Given the description of an element on the screen output the (x, y) to click on. 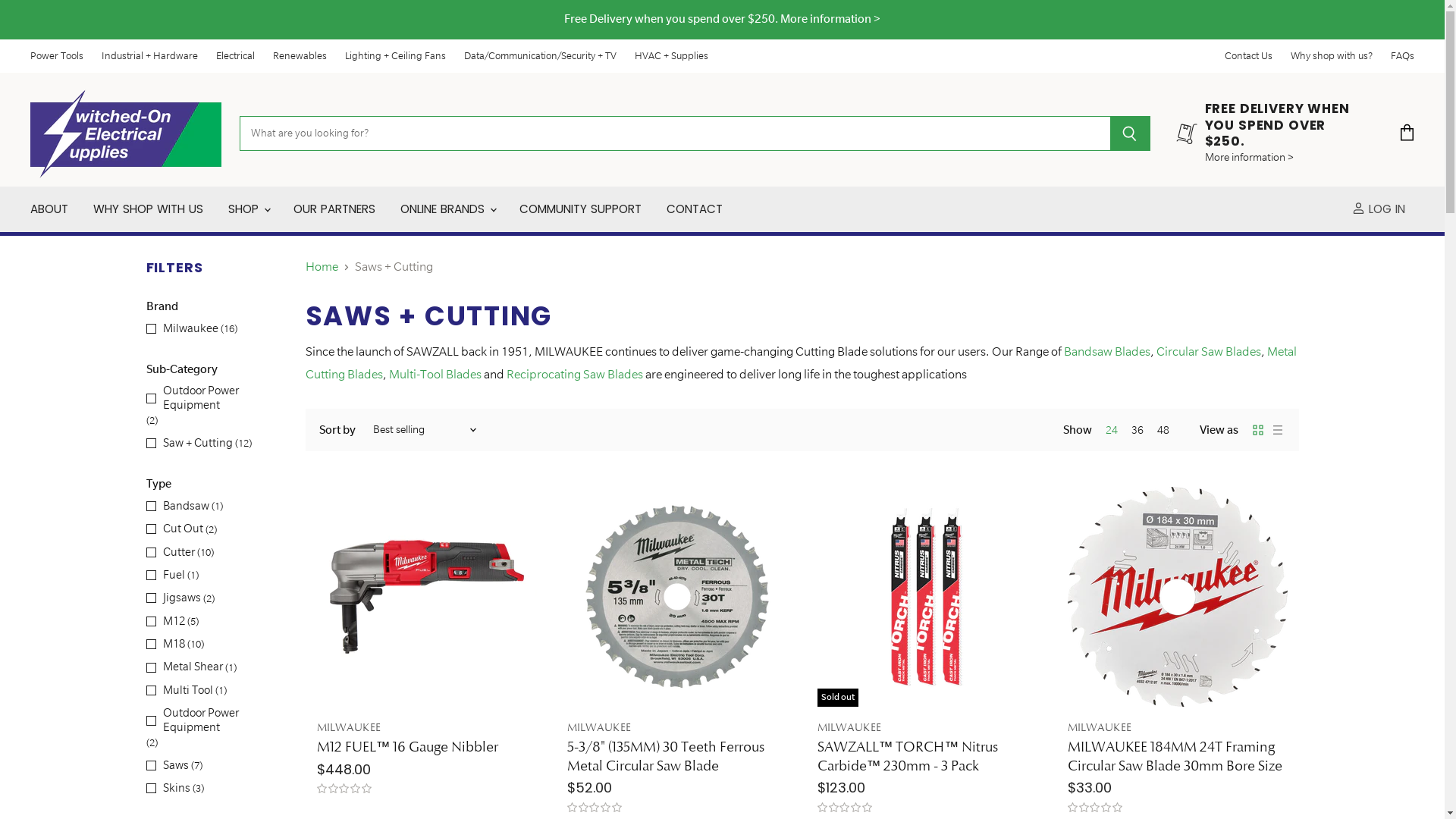
FAQs Element type: text (1402, 55)
Saw + Cutting (12) Element type: text (199, 443)
Reciprocating Saw Blades Element type: text (574, 374)
Power Tools Element type: text (56, 55)
Electrical Element type: text (235, 55)
HVAC + Supplies Element type: text (671, 55)
ABOUT Element type: text (48, 208)
Multi-Tool Blades Element type: text (434, 374)
Saws (7) Element type: text (174, 765)
Metal Cutting Blades Element type: text (799, 362)
48 Element type: text (1163, 429)
24 Element type: text (1111, 429)
Grid icon Element type: text (1256, 429)
SHOP Element type: text (247, 208)
Fuel (1) Element type: text (172, 574)
Jigsaws (2) Element type: text (180, 598)
M18 (10) Element type: text (175, 644)
Skins (3) Element type: text (175, 788)
Home Element type: text (320, 267)
Why shop with us? Element type: text (1331, 55)
ONLINE BRANDS Element type: text (447, 208)
M12 (5) Element type: text (172, 620)
CONTACT Element type: text (694, 208)
Circular Saw Blades Element type: text (1207, 351)
Sold out Element type: text (927, 596)
Renewables Element type: text (299, 55)
WHY SHOP WITH US Element type: text (147, 208)
COMMUNITY SUPPORT Element type: text (580, 208)
Multi Tool (1) Element type: text (186, 689)
5-3/8" (135MM) 30 Teeth Ferrous Metal Circular Saw Blade Element type: text (665, 755)
OUR PARTNERS Element type: text (334, 208)
Lighting + Ceiling Fans Element type: text (395, 55)
ACCOUNT ICON LOG IN Element type: text (1381, 208)
Bandsaw (1) Element type: text (184, 505)
Industrial + Hardware Element type: text (149, 55)
Milwaukee (16) Element type: text (191, 328)
Cut Out (2) Element type: text (181, 529)
Bandsaw Blades Element type: text (1106, 351)
Outdoor Power Equipment (2) Element type: text (215, 727)
36 Element type: text (1137, 429)
Cutter (10) Element type: text (180, 551)
List icon Element type: text (1276, 429)
Contact Us Element type: text (1248, 55)
Data/Communication/Security + TV Element type: text (540, 55)
View cart Element type: text (1406, 133)
Metal Shear (1) Element type: text (191, 667)
Outdoor Power Equipment (2) Element type: text (215, 405)
